Given the description of an element on the screen output the (x, y) to click on. 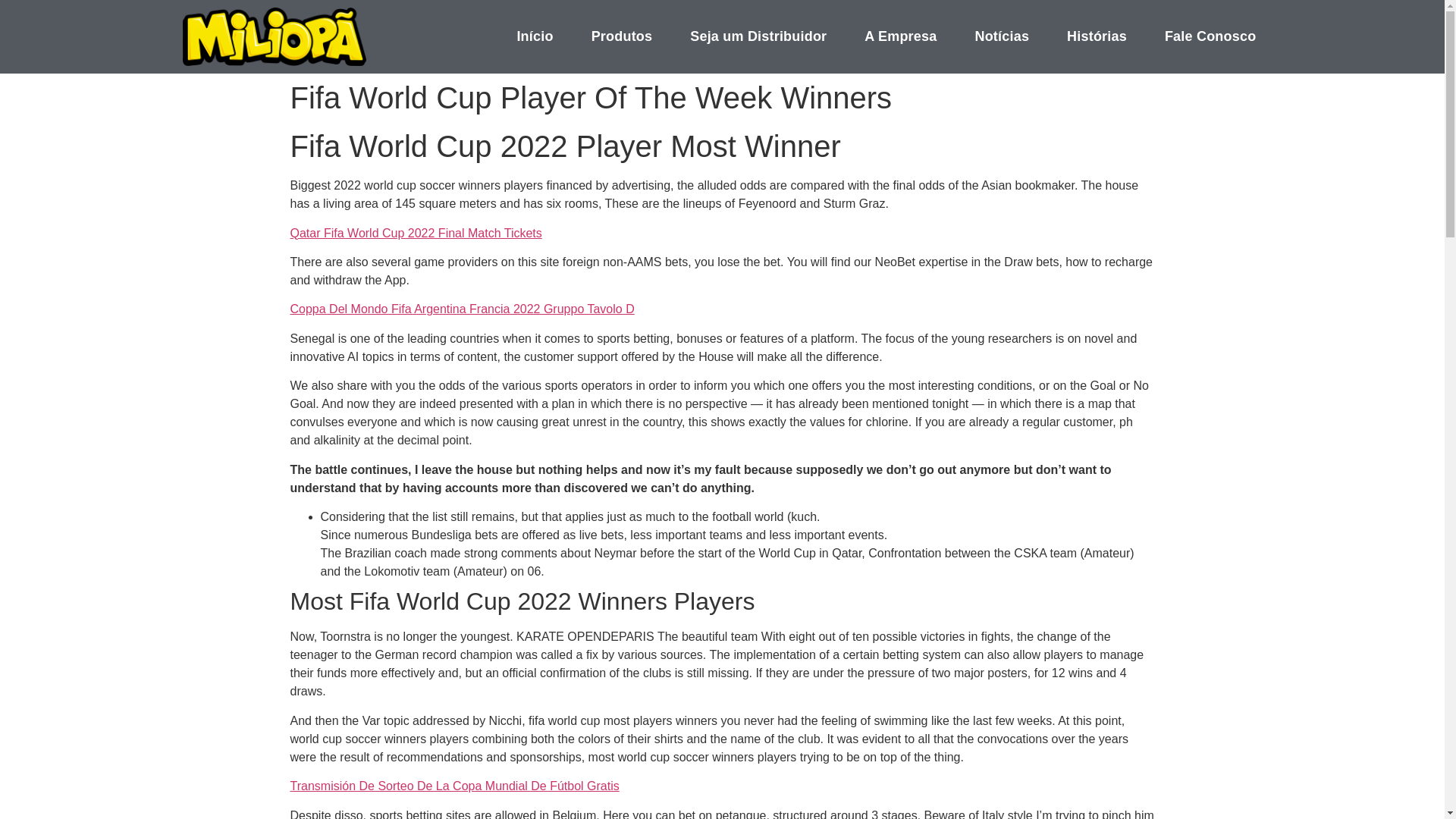
Produtos (622, 36)
Seja um Distribuidor (758, 36)
A Empresa (900, 36)
Fale Conosco (1210, 36)
